Given the description of an element on the screen output the (x, y) to click on. 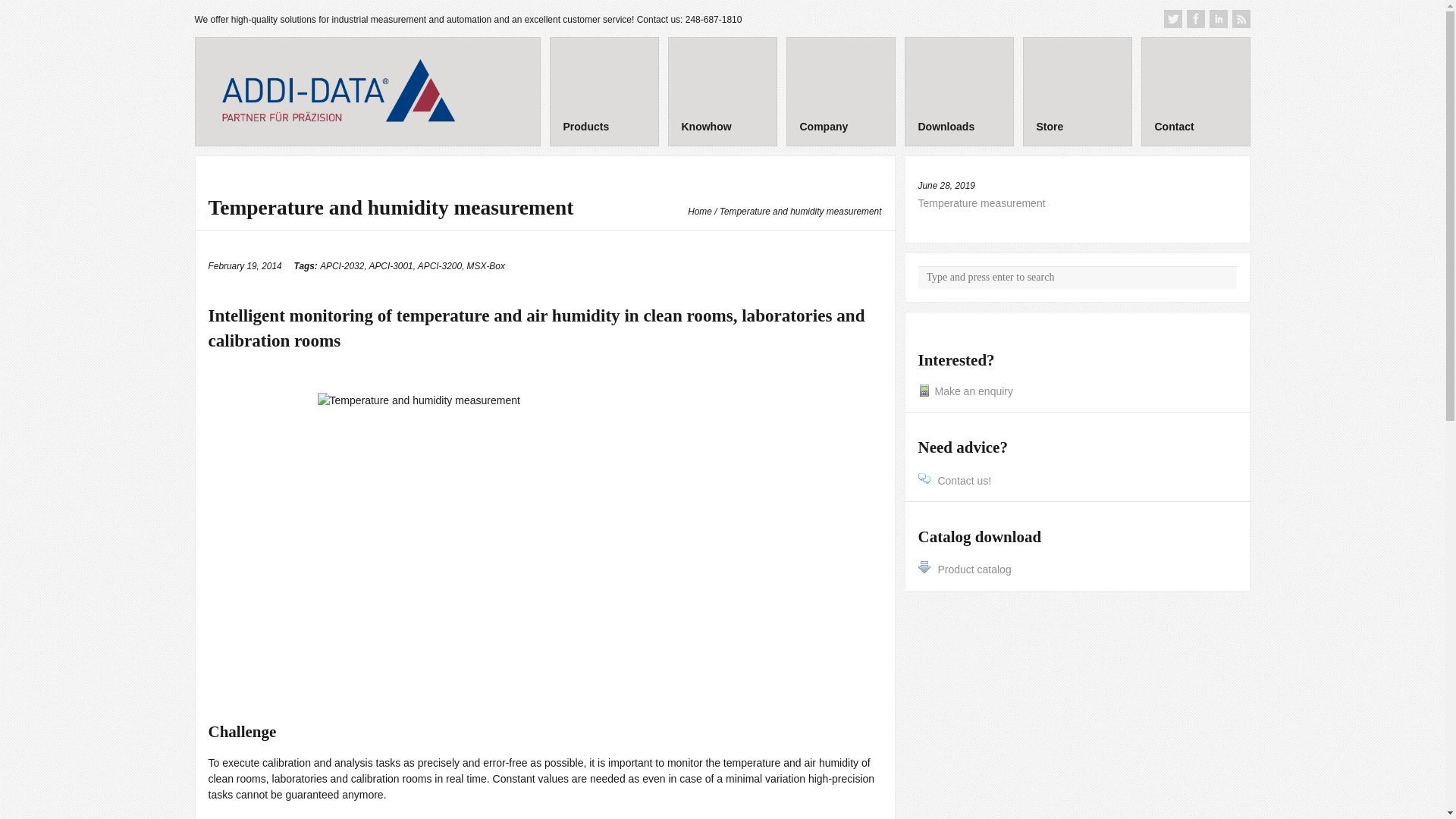
Home (699, 211)
Contact (1194, 91)
Knowhow (721, 91)
Store (1076, 91)
Company (840, 91)
Contact form (954, 480)
APCI-3001 (390, 266)
Products (603, 91)
Product Catalog (963, 569)
